Given the description of an element on the screen output the (x, y) to click on. 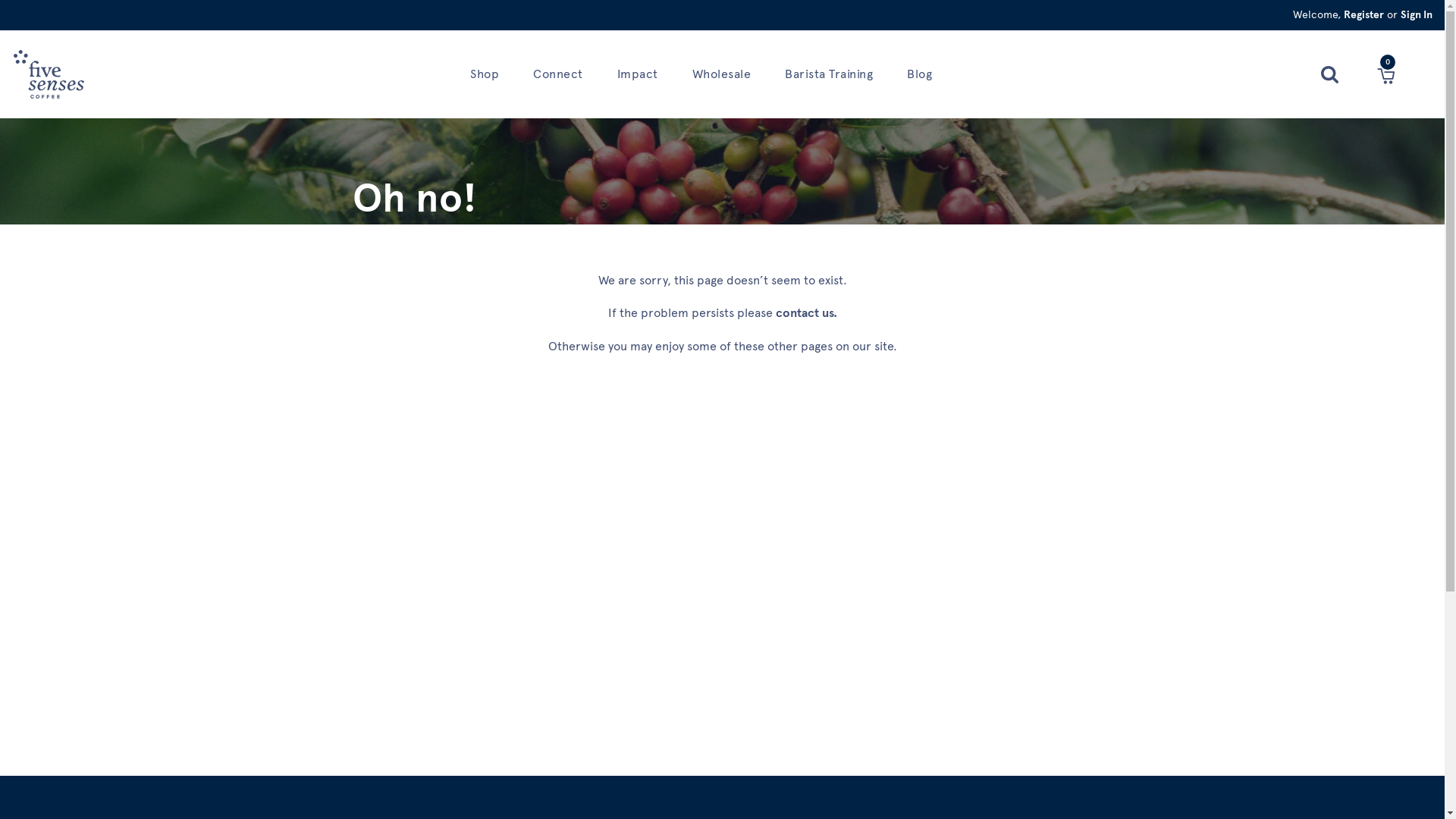
Barista Training Element type: text (830, 73)
Home Element type: text (48, 74)
Search Element type: text (1329, 73)
Impact Element type: text (639, 73)
Sign In Element type: text (1416, 14)
contact us Element type: text (803, 312)
Connect Element type: text (559, 73)
Wholesale Element type: text (722, 73)
Shop Element type: text (486, 73)
Register Element type: text (1363, 14)
Cart
0 Element type: text (1385, 75)
Blog Element type: text (920, 73)
